Given the description of an element on the screen output the (x, y) to click on. 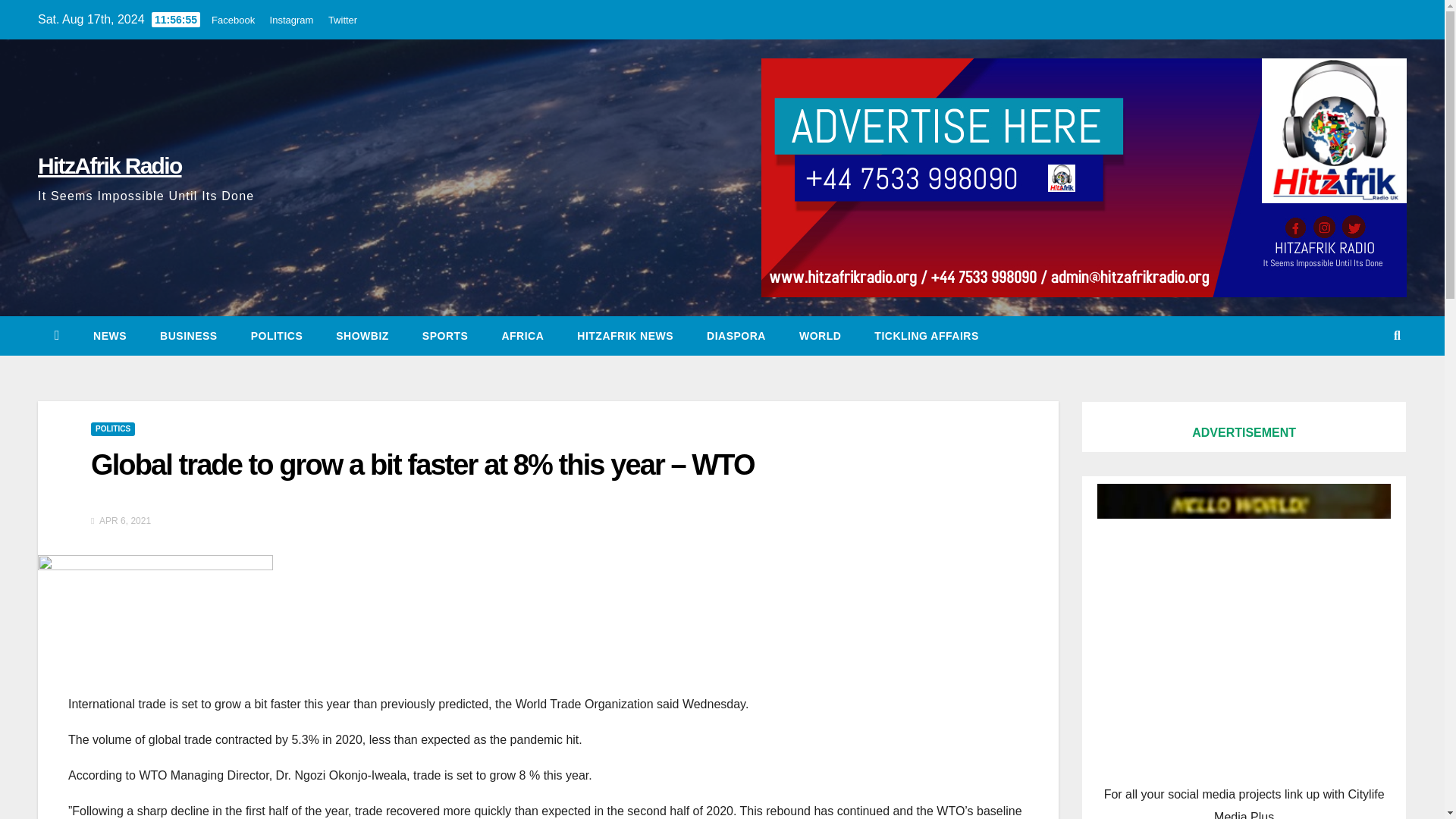
Instagram (291, 19)
HitzAfrik Radio (109, 165)
SHOWBIZ (362, 335)
Facebook (232, 19)
DIASPORA (736, 335)
Twitter (342, 19)
Business (188, 335)
Diaspora (736, 335)
Africa (522, 335)
POLITICS (112, 428)
